Given the description of an element on the screen output the (x, y) to click on. 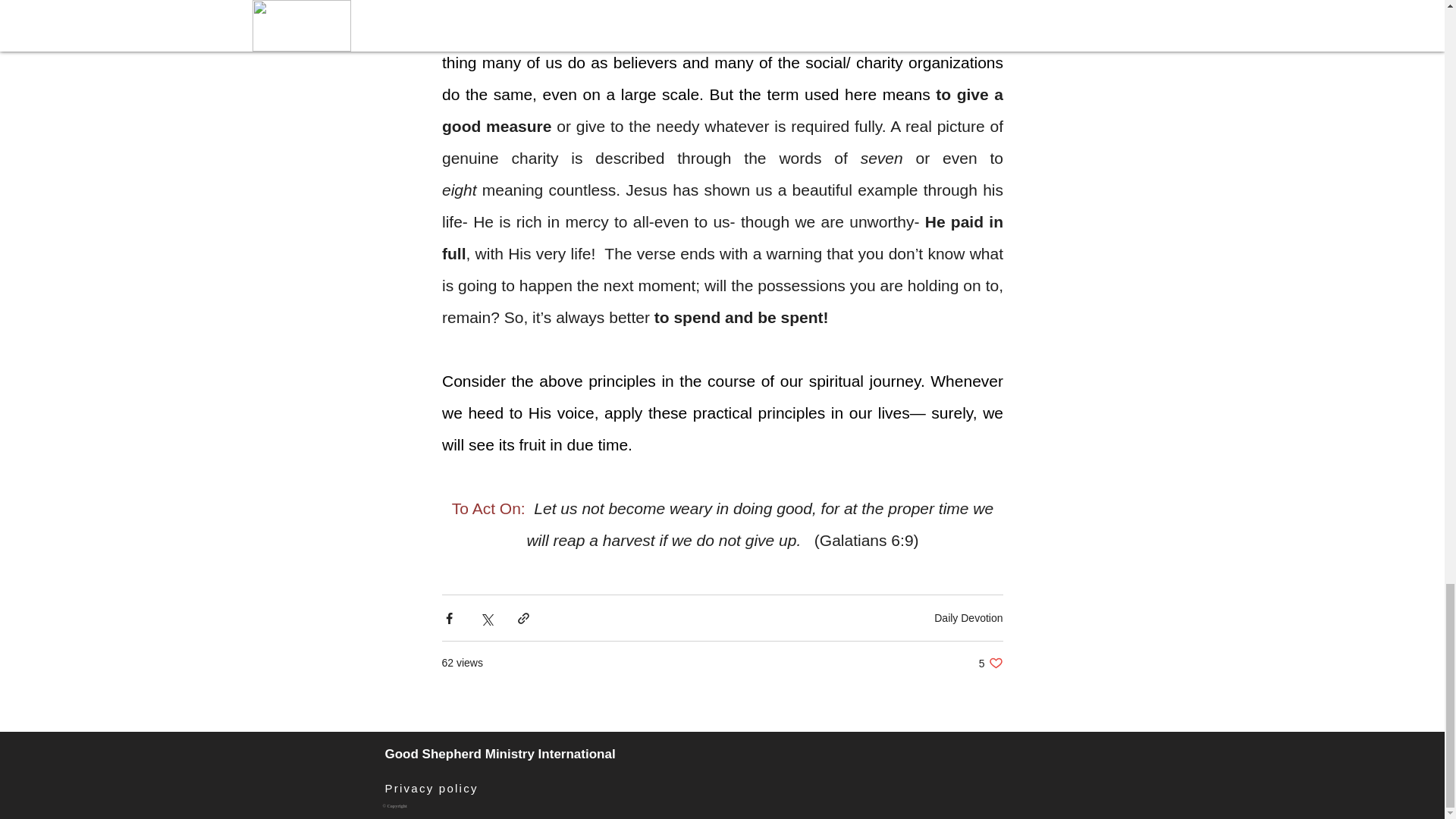
Daily Devotion (968, 616)
Privacy policy (432, 788)
